Given the description of an element on the screen output the (x, y) to click on. 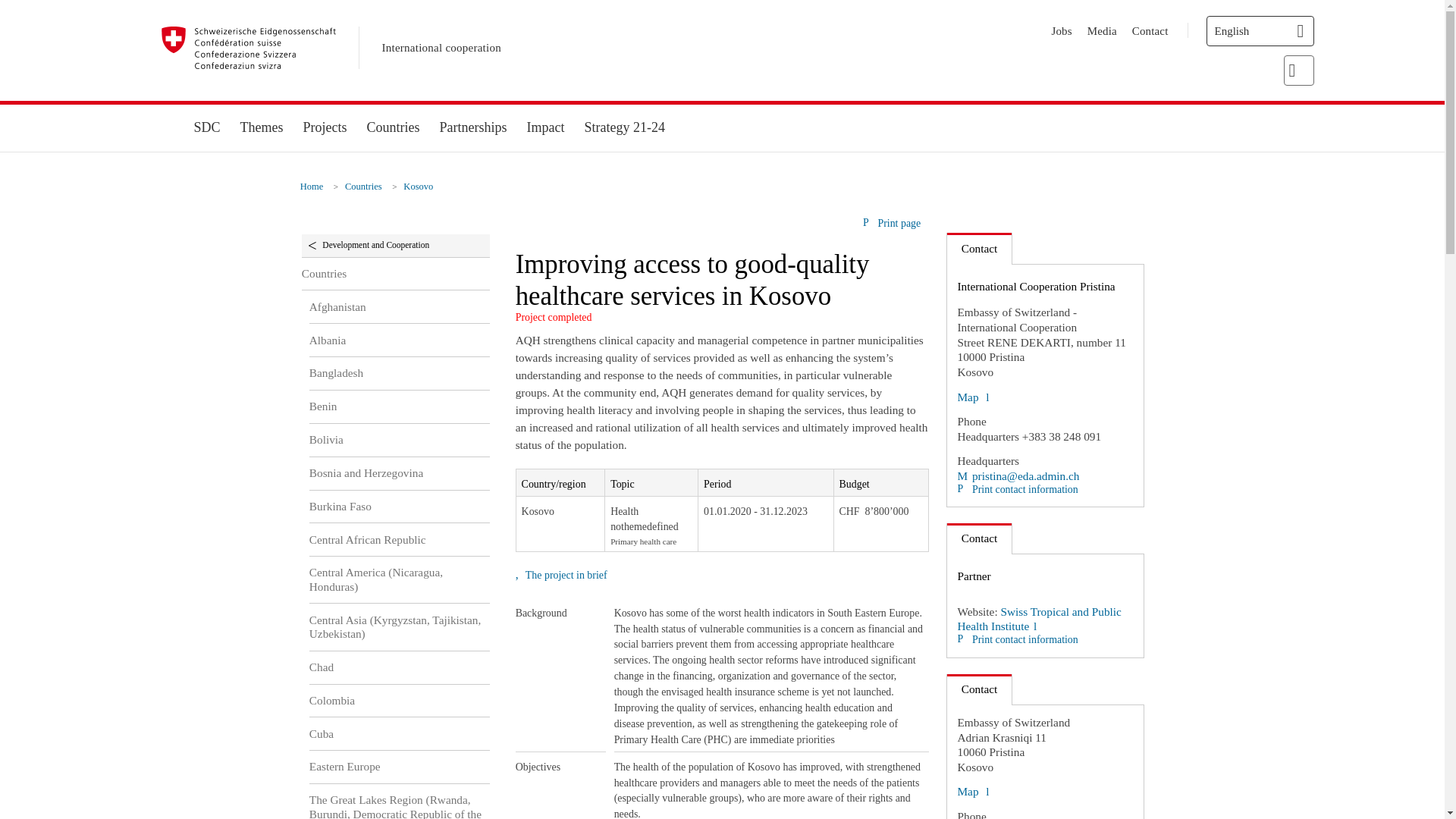
International cooperation (440, 47)
External Link (1038, 619)
External Link (1017, 475)
Themes (262, 127)
Jobs (1061, 30)
External Link (972, 790)
Contact (1150, 30)
External Link (972, 396)
SDC (206, 127)
Media (1101, 30)
